Given the description of an element on the screen output the (x, y) to click on. 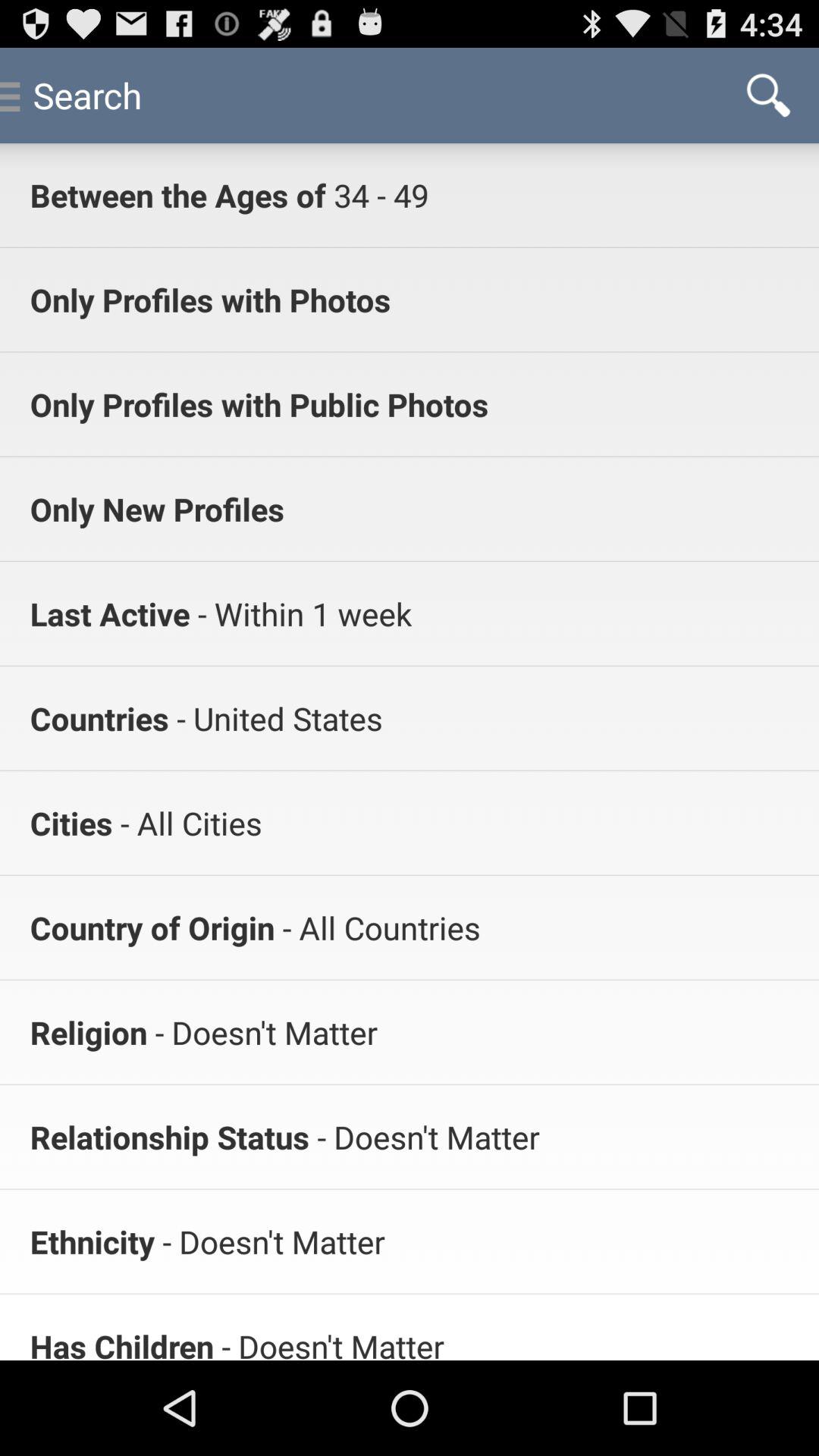
click icon above the countries app (109, 613)
